Given the description of an element on the screen output the (x, y) to click on. 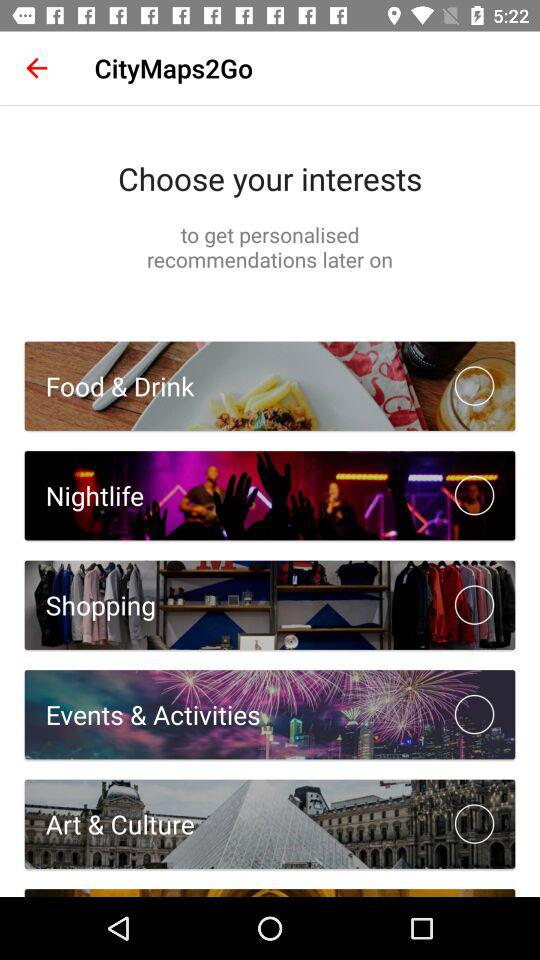
select nightlife (474, 495)
